Given the description of an element on the screen output the (x, y) to click on. 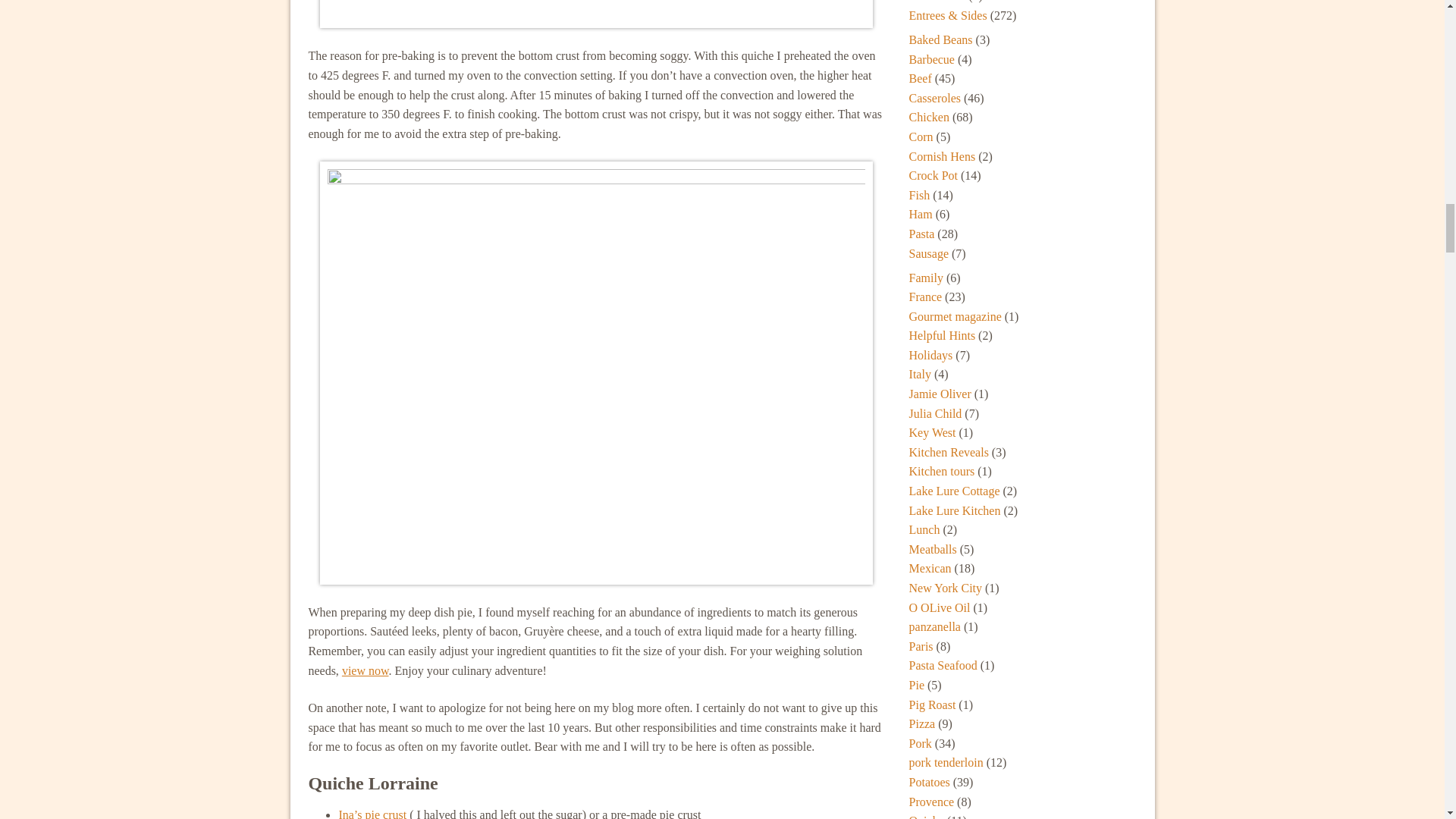
view now (365, 670)
